Given the description of an element on the screen output the (x, y) to click on. 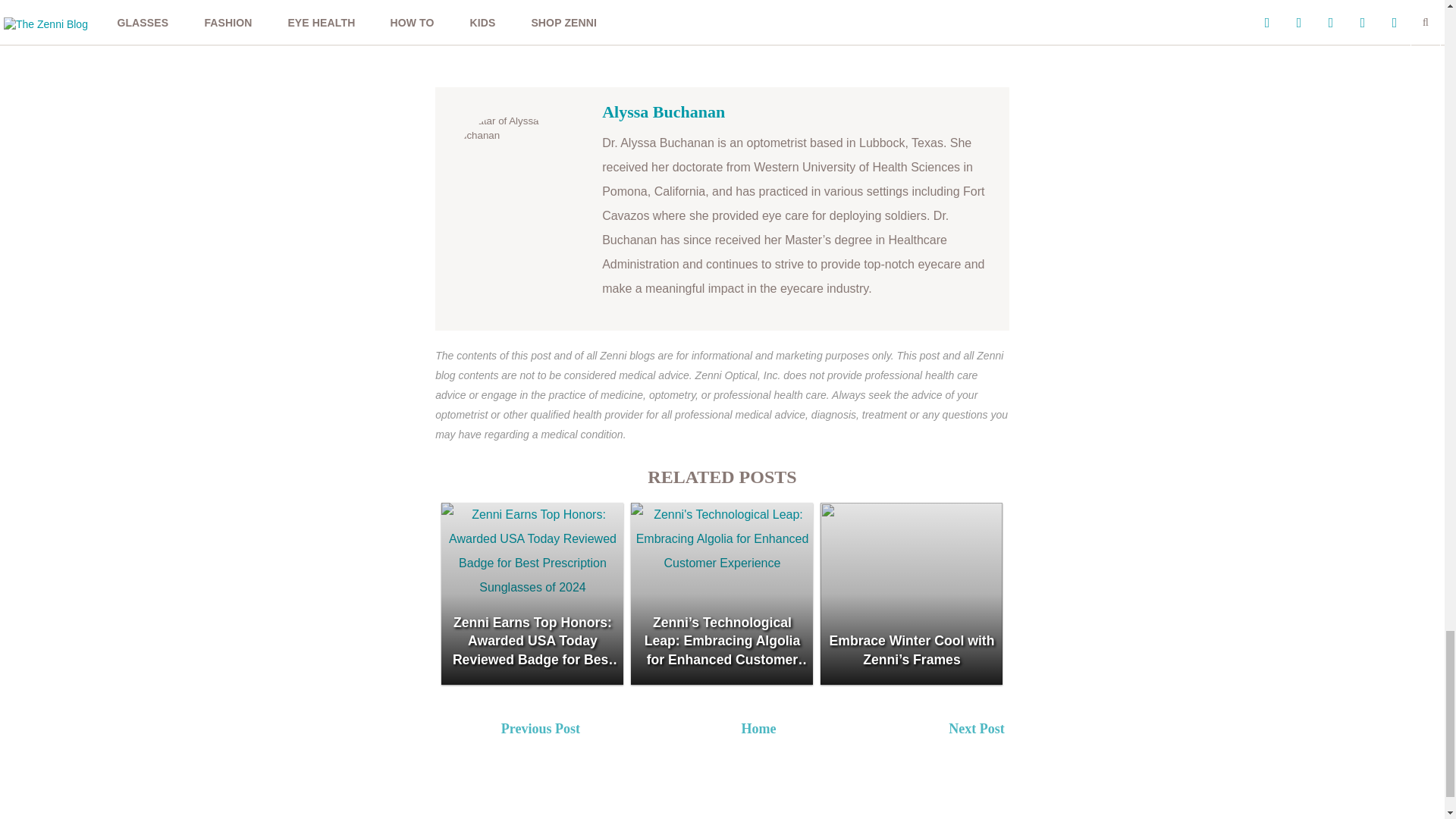
Next Post (1053, 731)
Alyssa Buchanan (663, 111)
Home (758, 728)
Previous Post (605, 731)
